Given the description of an element on the screen output the (x, y) to click on. 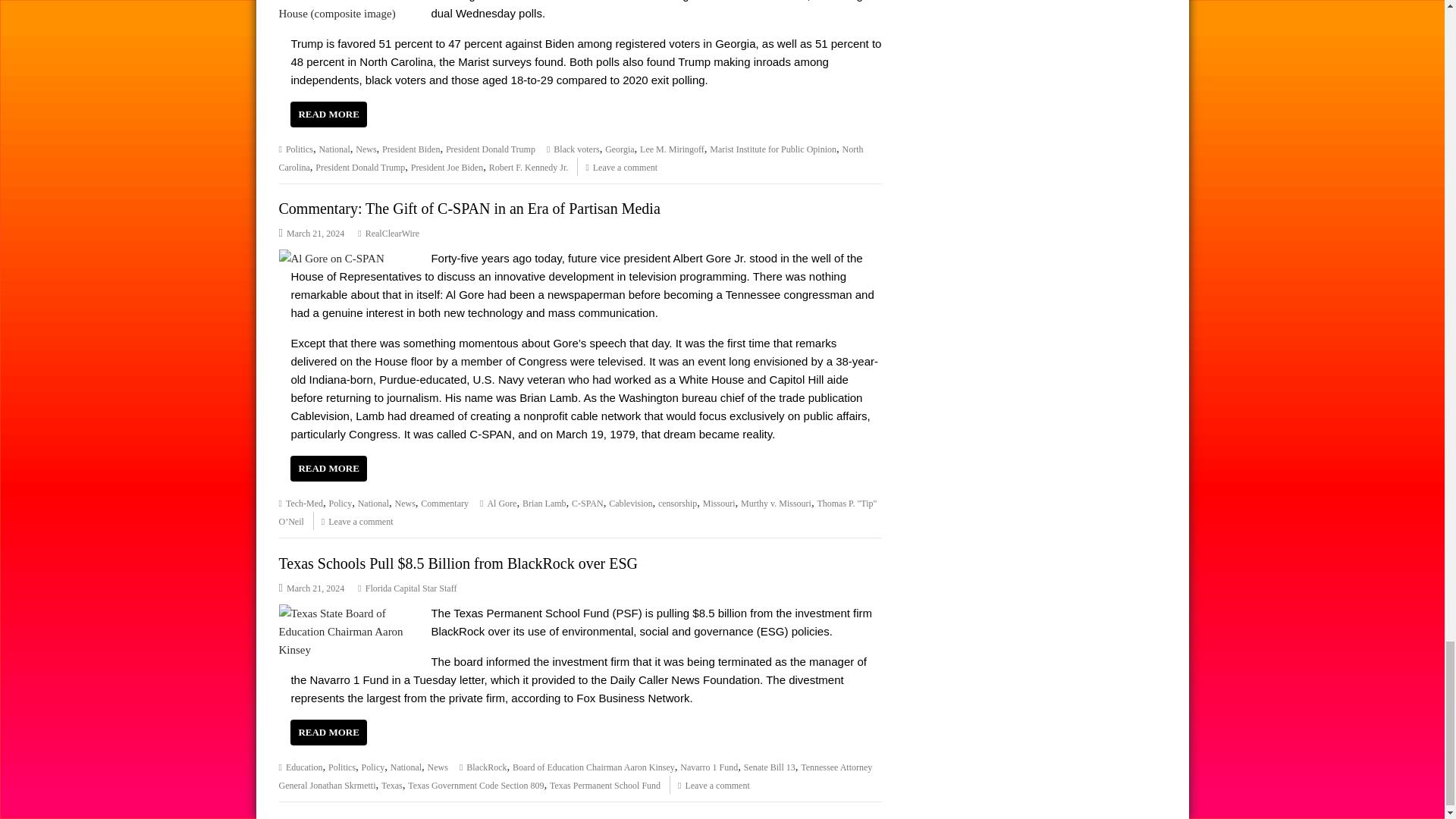
Commentary: The Gift of C-SPAN in an Era of Partisan Media (331, 258)
